Given the description of an element on the screen output the (x, y) to click on. 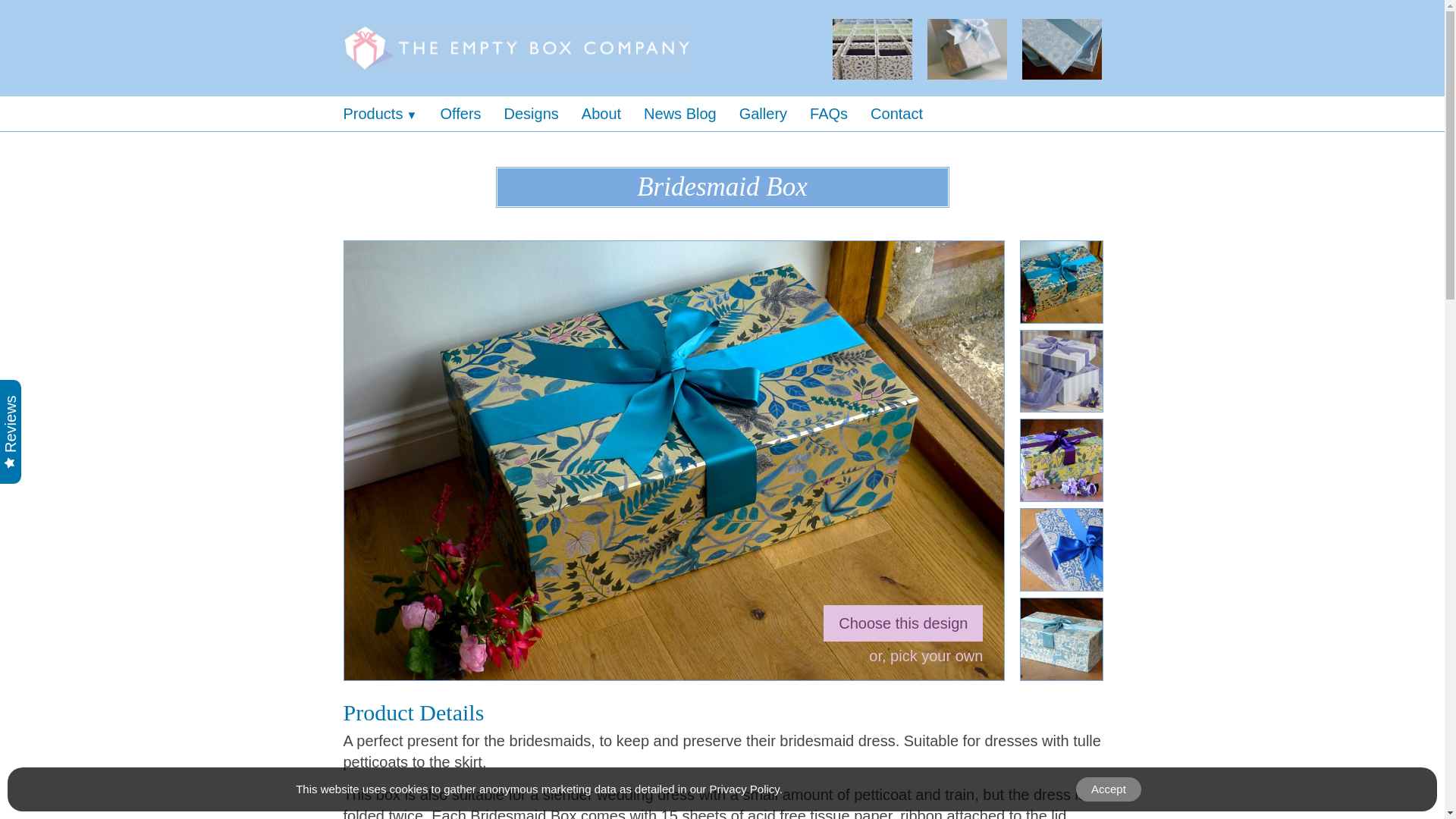
Contact (907, 113)
FAQs (839, 113)
Offers (471, 113)
Products (390, 113)
News Blog (691, 113)
Designs (541, 113)
Gallery (774, 113)
About (611, 113)
